Given the description of an element on the screen output the (x, y) to click on. 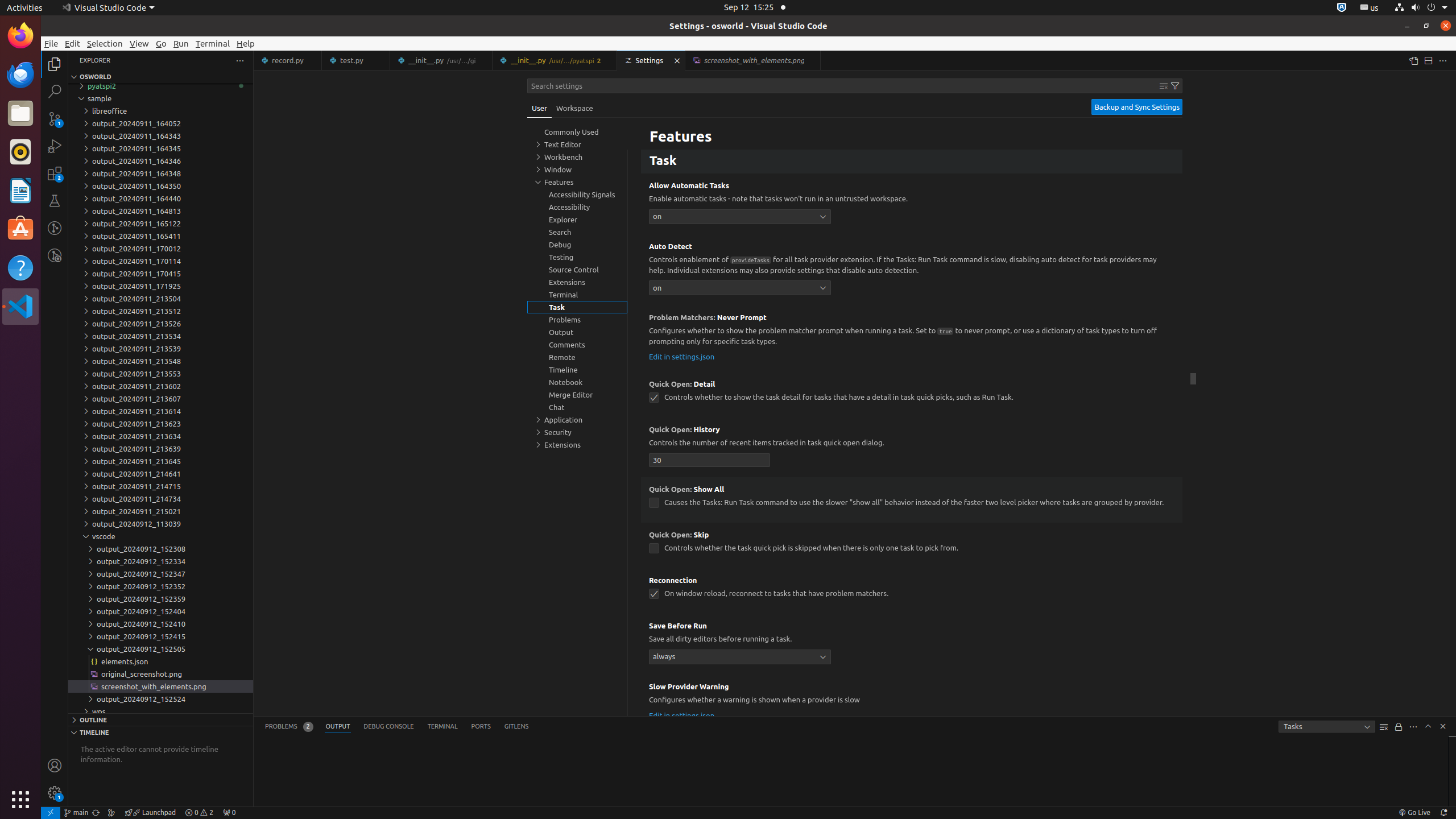
output_20240911_164440 Element type: tree-item (160, 198)
output_20240911_213645 Element type: tree-item (160, 461)
Testing Element type: page-tab (54, 200)
Views and More Actions... Element type: push-button (1413, 726)
test.py Element type: page-tab (355, 60)
